Given the description of an element on the screen output the (x, y) to click on. 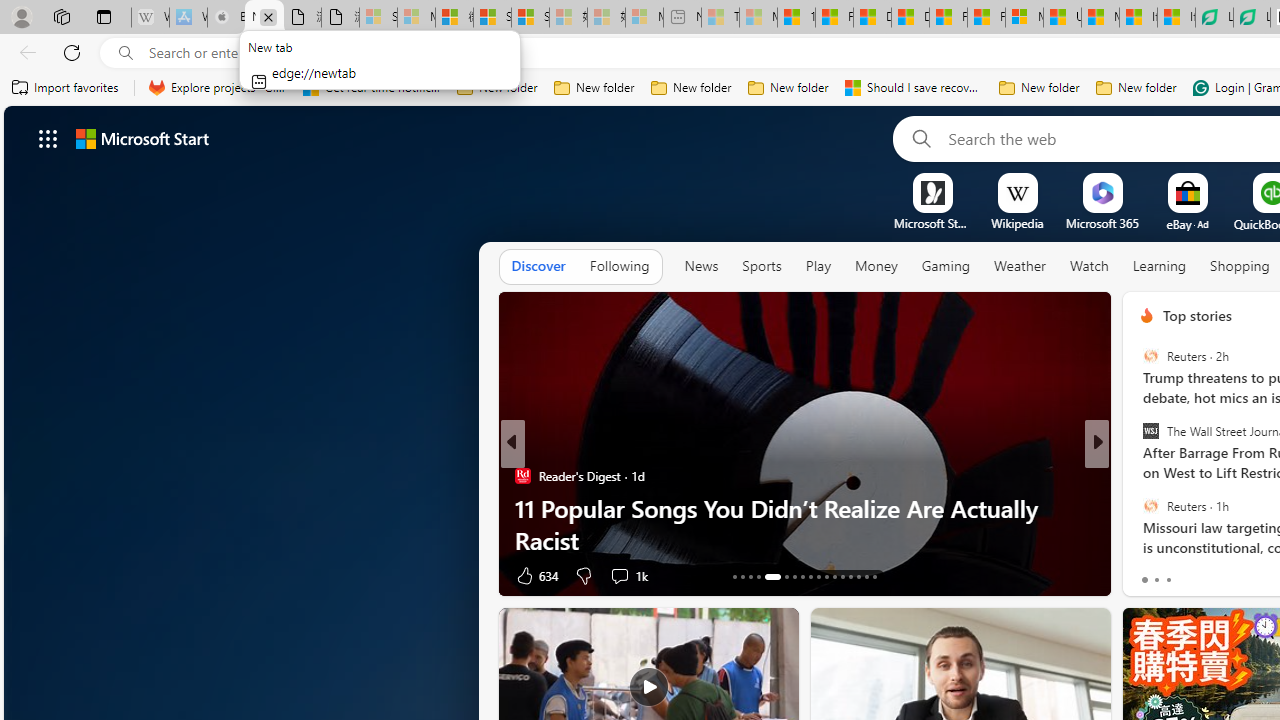
View comments 88 Comment (11, 575)
AutomationID: tab-20 (801, 576)
1 Like (1145, 574)
AutomationID: tab-25 (842, 576)
7 Like (1145, 574)
tab-2 (1168, 579)
Not Your Boss Babe (1138, 475)
AutomationID: tab-21 (810, 576)
Kobocents (1138, 475)
View comments 44 Comment (1234, 575)
